Given the description of an element on the screen output the (x, y) to click on. 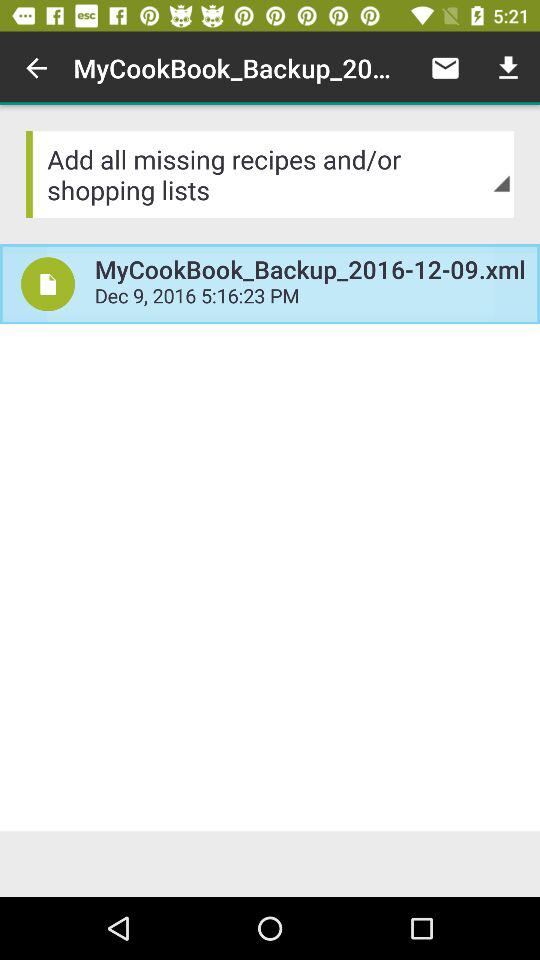
launch item below the mycookbook_backup_2016 12 09 (309, 298)
